Given the description of an element on the screen output the (x, y) to click on. 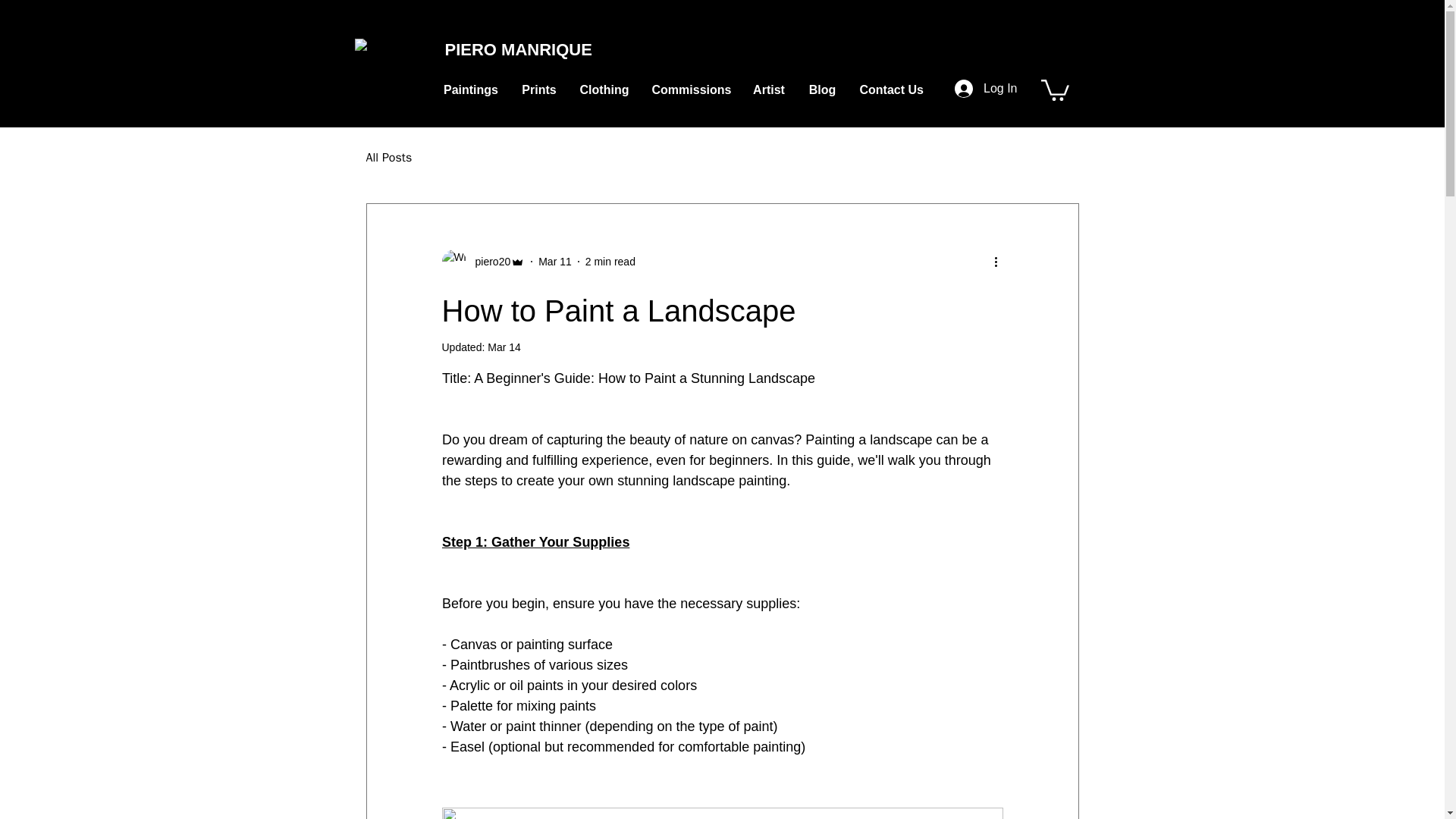
All Posts (388, 157)
piero20 (488, 261)
Paintings (471, 89)
Log In (985, 88)
Blog (821, 89)
PIERO MANRIQUE (517, 49)
Mar 11 (555, 260)
Prints (538, 89)
Commissions (690, 89)
2 min read (609, 260)
piero20 (482, 261)
Contact Us (890, 89)
Mar 14 (504, 346)
Artist (768, 89)
Clothing (604, 89)
